Given the description of an element on the screen output the (x, y) to click on. 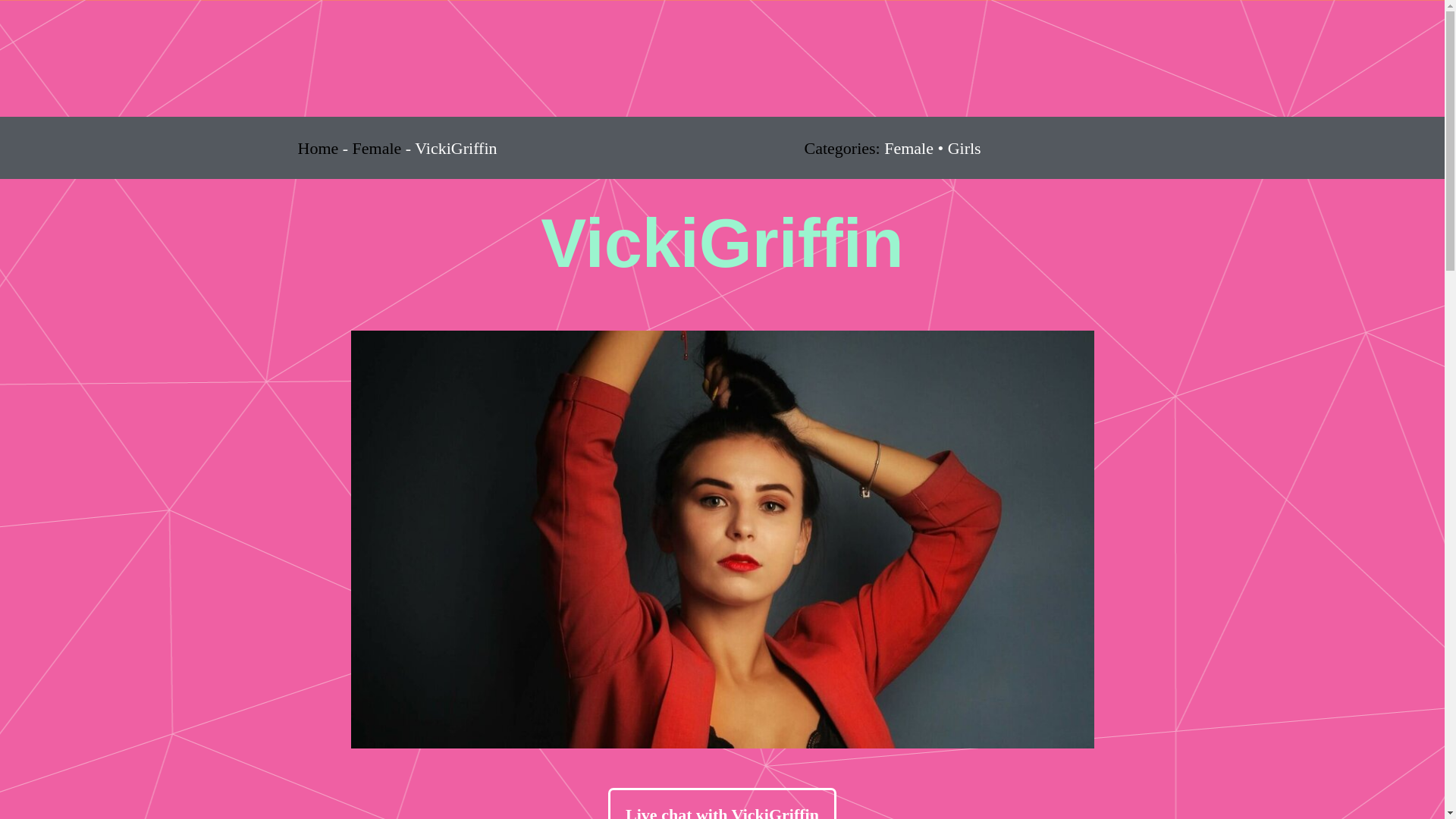
Female (376, 148)
Live chat with VickiGriffin (721, 803)
Home (317, 148)
